Given the description of an element on the screen output the (x, y) to click on. 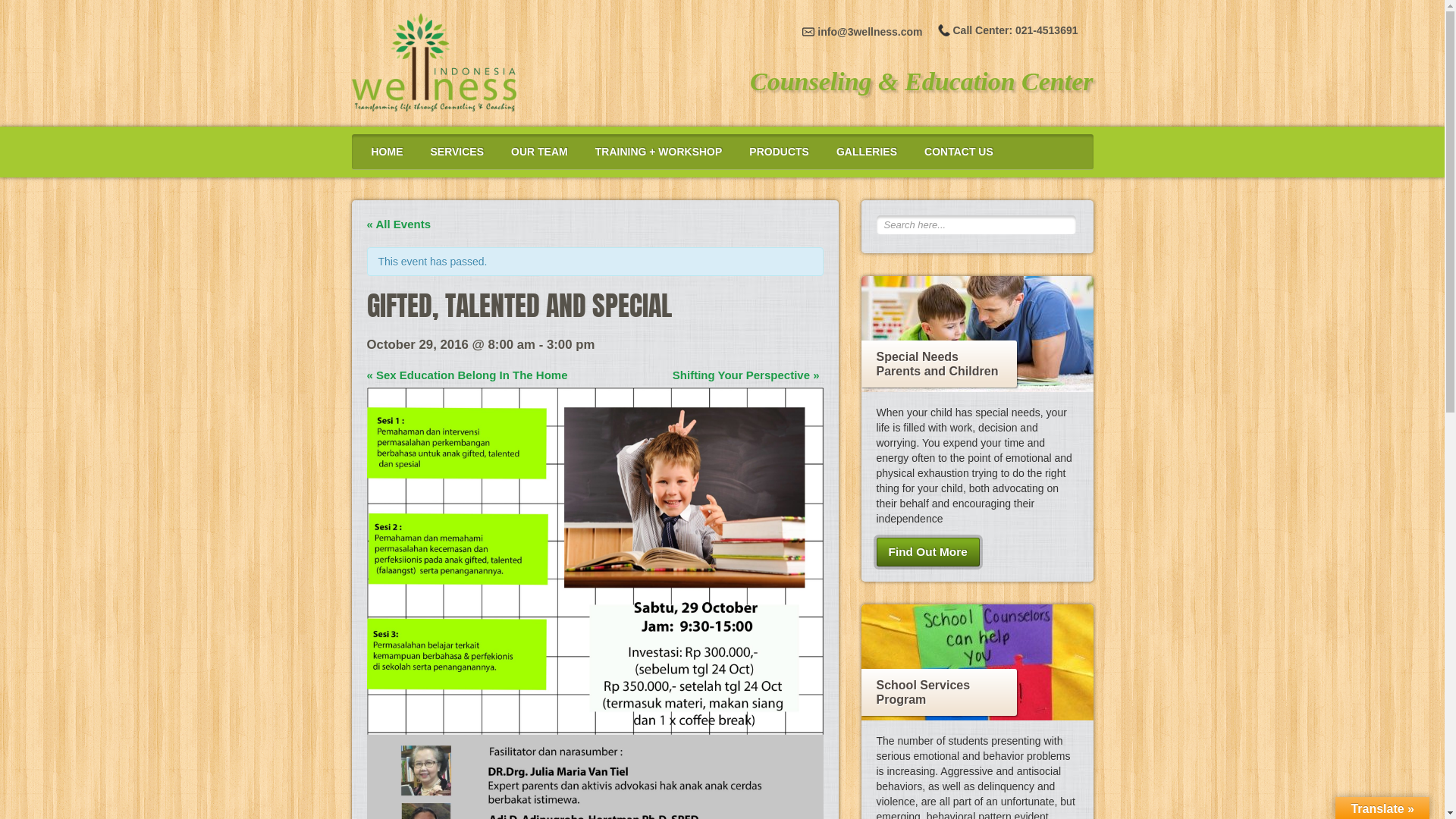
TRAINING + WORKSHOP Element type: text (658, 151)
Search Element type: text (31, 14)
PRODUCTS Element type: text (779, 151)
SERVICES Element type: text (456, 151)
CONTACT US Element type: text (958, 151)
OUR TEAM Element type: text (539, 151)
GALLERIES Element type: text (866, 151)
HOME Element type: text (386, 151)
info@3wellness.com Element type: text (862, 31)
Find Out More Element type: text (927, 551)
